Given the description of an element on the screen output the (x, y) to click on. 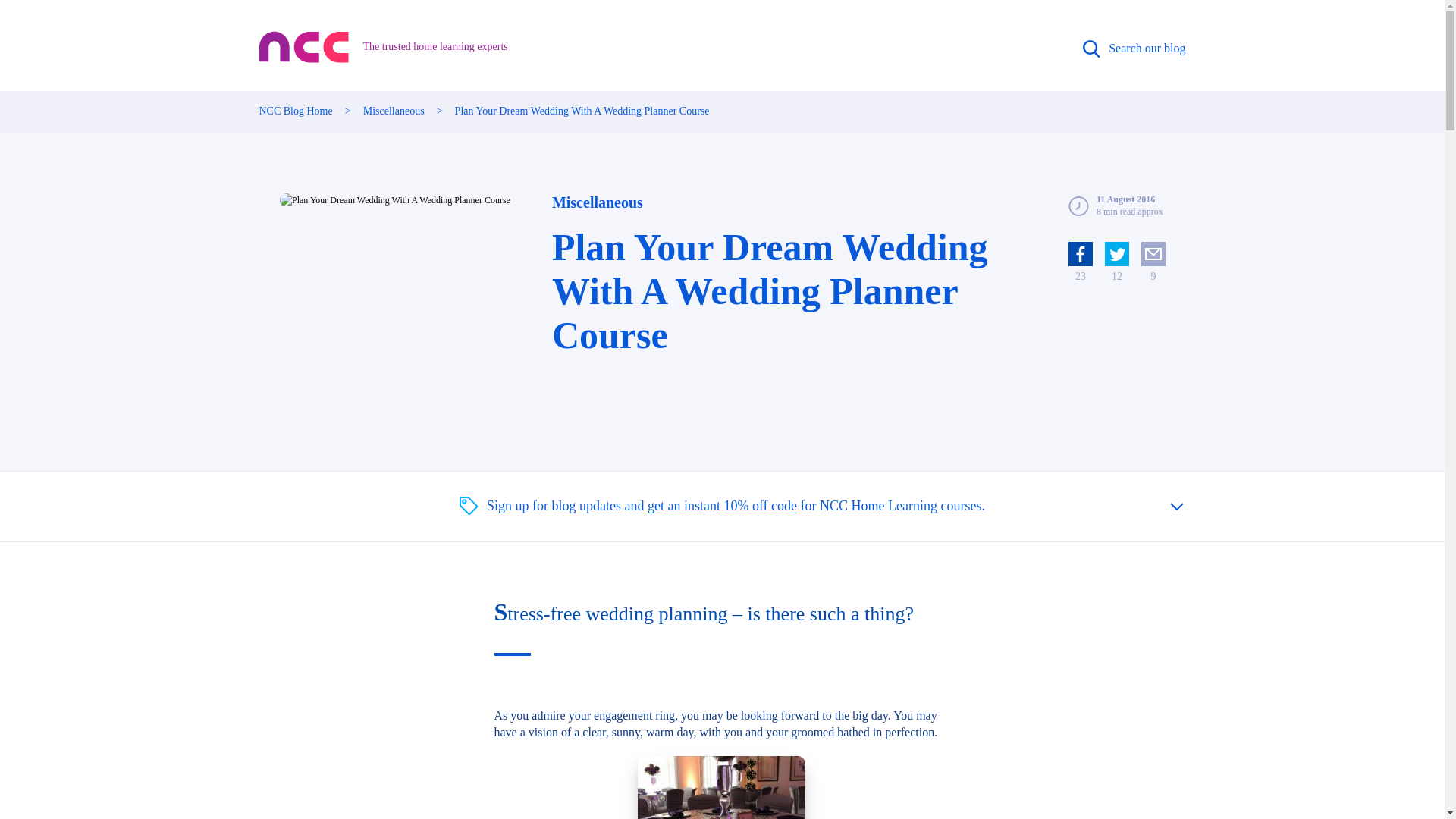
Plan Your Dream Wedding With A Wedding Planner Course (395, 200)
Miscellaneous (597, 202)
NCC Blog Home (296, 111)
NCC Home Learning (304, 47)
Miscellaneous (393, 111)
Plan Your Dream Wedding With A Wedding Planner Course (582, 111)
